Given the description of an element on the screen output the (x, y) to click on. 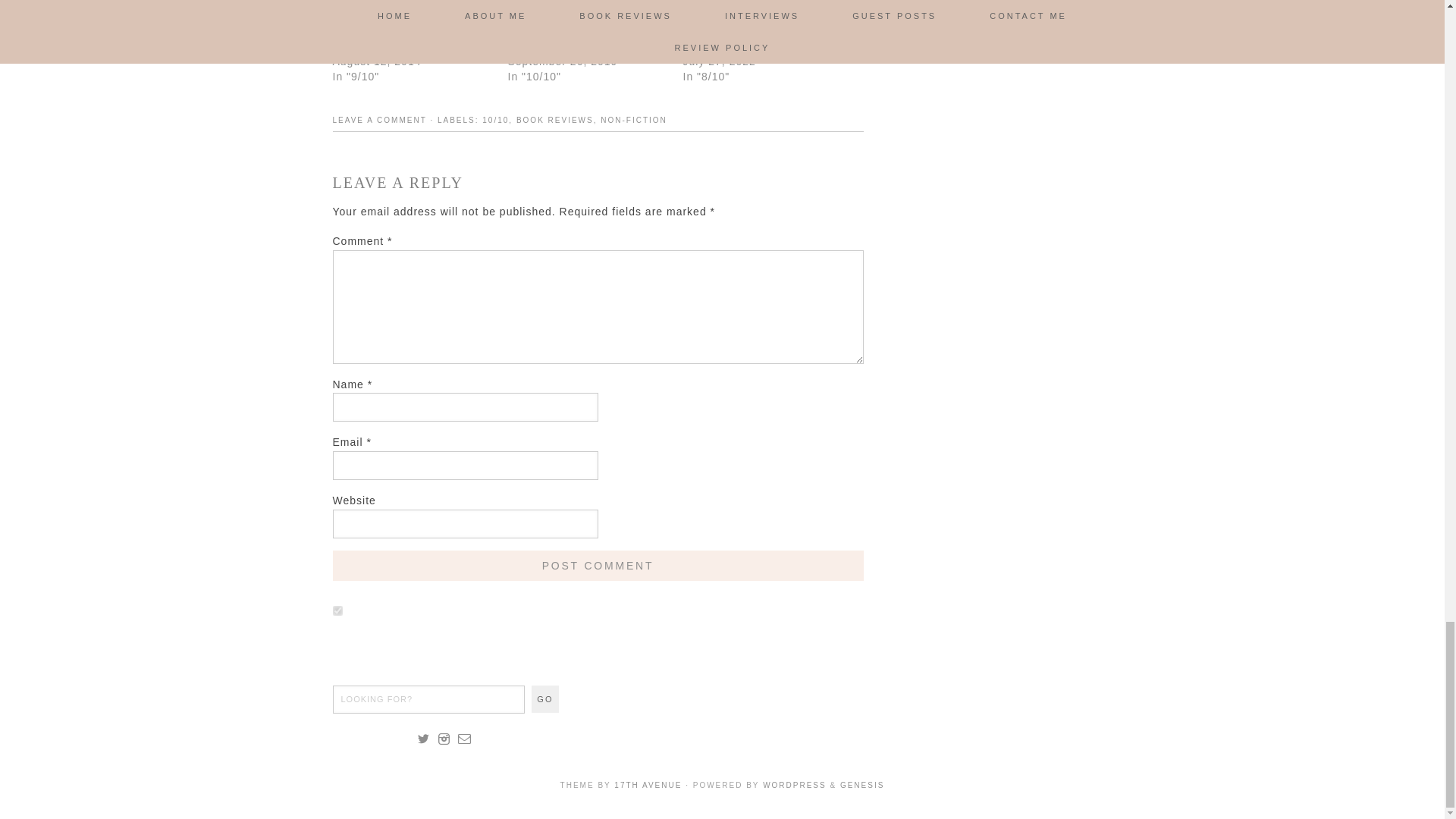
GO (545, 698)
Darkness on the Edge of Town by Jessie Cole (398, 38)
The Confession by Jessie Burton (577, 38)
Post Comment (597, 565)
on (336, 610)
Instagram (443, 739)
Twitter (423, 739)
BOOK REVIEWS (555, 120)
CommentLuv is enabled (412, 612)
The House of Fortune by Jessie Burton (749, 38)
The Confession by Jessie Burton (577, 38)
LEAVE A COMMENT (378, 120)
GO (545, 698)
Post Comment (597, 565)
NON-FICTION (632, 120)
